Given the description of an element on the screen output the (x, y) to click on. 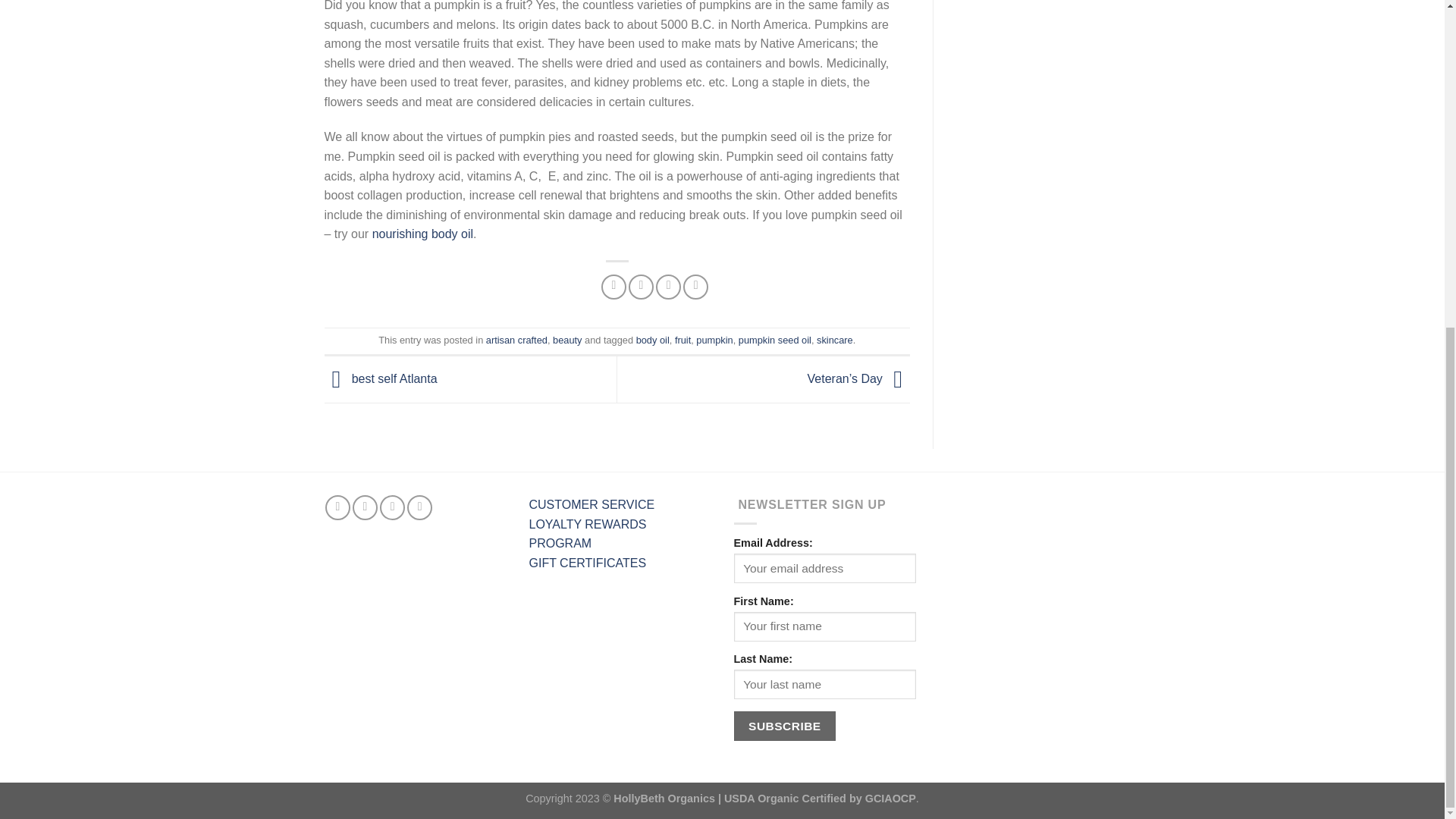
body oil (652, 339)
Email to a Friend (668, 286)
Subscribe (784, 726)
Pin on Pinterest (694, 286)
beauty (566, 339)
nourishing body oil (422, 233)
Share on Twitter (640, 286)
Follow on Facebook (337, 507)
artisan crafted (516, 339)
Follow on Pinterest (392, 507)
